Given the description of an element on the screen output the (x, y) to click on. 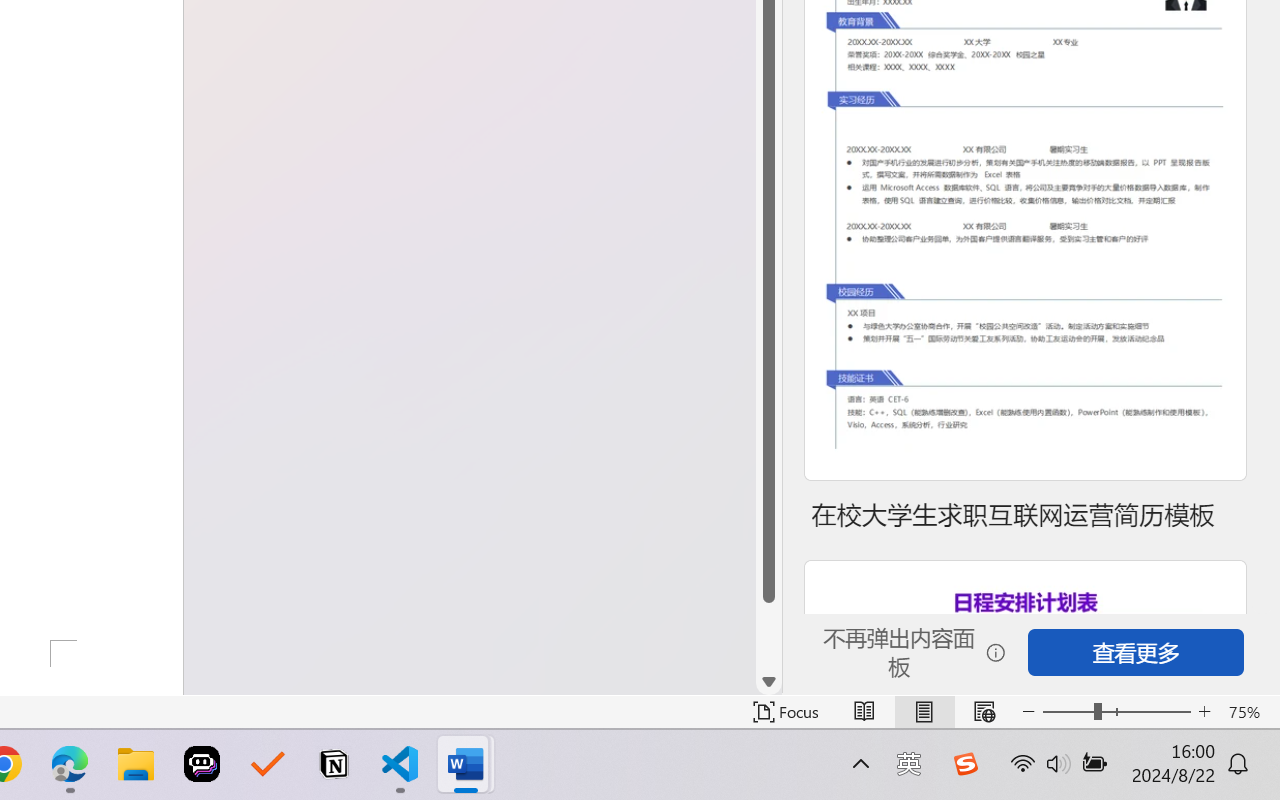
Page down (769, 635)
Web Layout (984, 712)
Zoom (1116, 712)
Focus  (786, 712)
Zoom Out (1067, 712)
Read Mode (864, 712)
Print Layout (924, 712)
Line down (769, 681)
Zoom In (1204, 712)
Class: Image (965, 764)
